Given the description of an element on the screen output the (x, y) to click on. 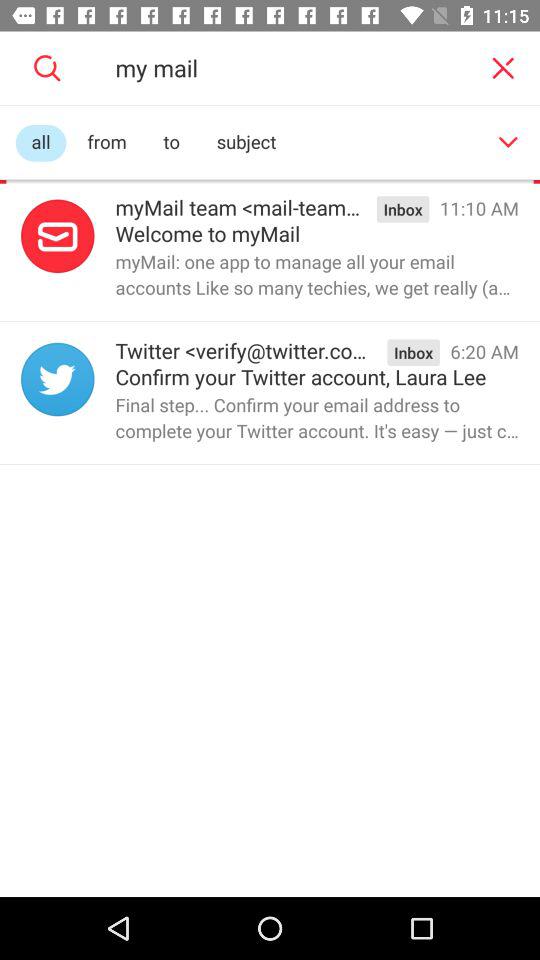
launch item to the left of the to item (106, 142)
